Given the description of an element on the screen output the (x, y) to click on. 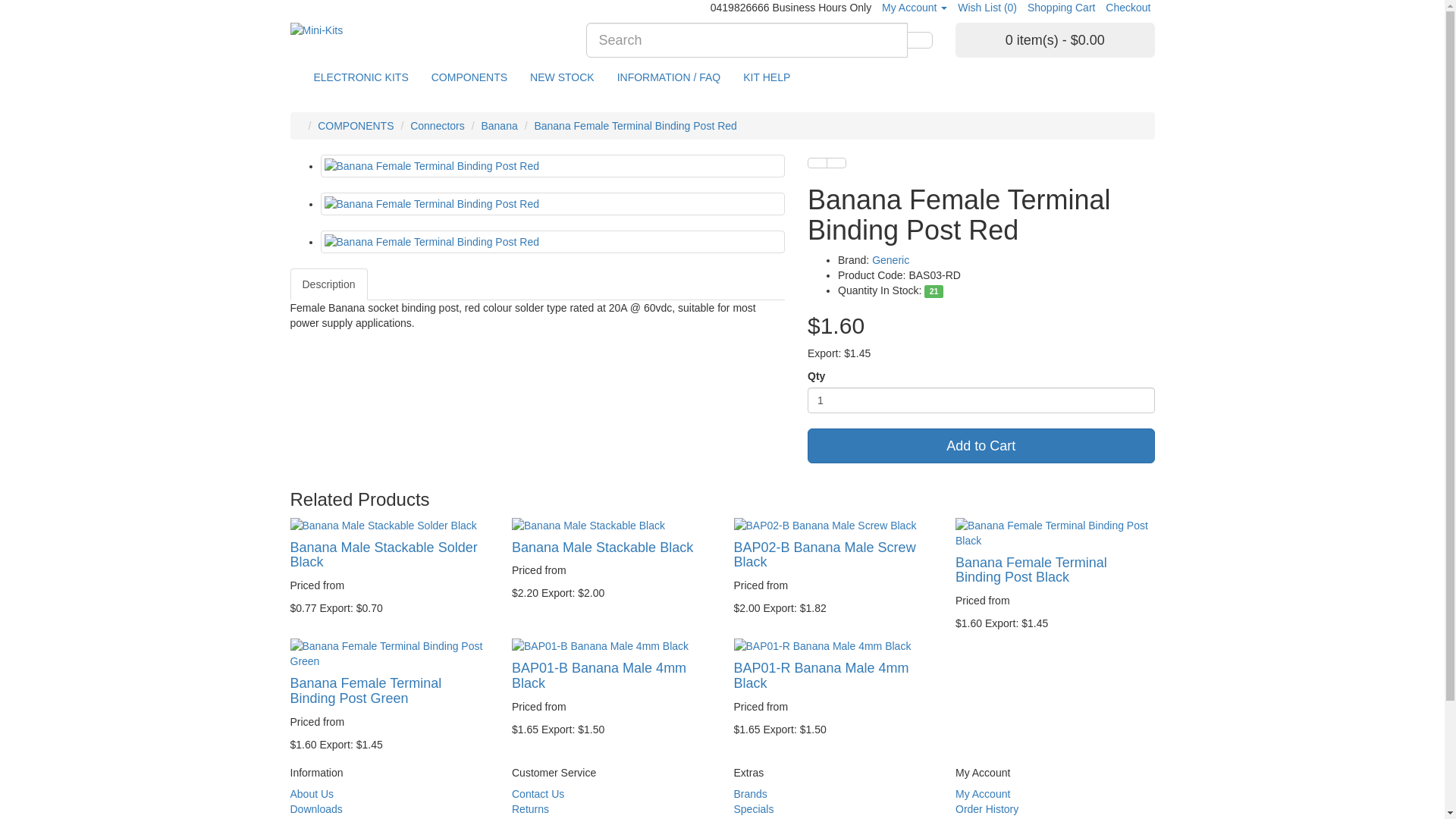
BAP02-B Banana Male Screw Black Element type: text (825, 554)
Banana Female Terminal Binding Post Red Element type: hover (552, 241)
BAP02-B Banana Male Screw Black Element type: hover (833, 525)
COMPONENTS Element type: text (355, 125)
0 item(s) - $0.00 Element type: text (1054, 39)
Wish List (0) Element type: text (986, 7)
Banana Female Terminal Binding Post Black Element type: hover (1054, 532)
BAP01-R Banana Male 4mm Black Element type: text (821, 675)
Banana Female Terminal Binding Post Red Element type: hover (552, 203)
Banana Female Terminal Binding Post Green Element type: hover (389, 653)
KIT HELP Element type: text (766, 77)
Contact Us Element type: text (537, 793)
Banana Female Terminal Binding Post Black Element type: text (1031, 570)
ELECTRONIC KITS Element type: text (360, 77)
My Account Element type: text (982, 793)
Shopping Cart Element type: text (1061, 7)
About Us Element type: text (311, 793)
Banana Female Terminal Binding Post Red Element type: text (634, 125)
BAP01-R Banana Male 4mm Black Element type: hover (833, 645)
Generic Element type: text (890, 260)
BAP01-B Banana Male 4mm Black Element type: hover (611, 645)
Connectors Element type: text (437, 125)
Mini-Kits Element type: hover (425, 29)
Banana Female Terminal Binding Post Red Element type: hover (552, 203)
Returns Element type: text (530, 809)
Banana Female Terminal Binding Post Green Element type: text (365, 690)
Description Element type: text (328, 284)
Order History Element type: text (986, 809)
Banana Male Stackable Black Element type: hover (611, 525)
NEW STOCK Element type: text (561, 77)
Banana Female Terminal Binding Post Red Element type: hover (552, 165)
Banana Male Stackable Solder Black Element type: text (382, 554)
Add to Wish List Element type: hover (817, 162)
Add to Cart Element type: text (980, 445)
INFORMATION / FAQ Element type: text (668, 77)
Banana Male Stackable Solder Black Element type: hover (389, 525)
Brands Element type: text (750, 793)
Checkout Element type: text (1127, 7)
Downloads Element type: text (315, 809)
BAP01-B Banana Male 4mm Black Element type: text (598, 675)
My Account Element type: text (914, 7)
Banana Element type: text (498, 125)
Banana Female Terminal Binding Post Red Element type: hover (552, 241)
Banana Male Stackable Black Element type: text (602, 547)
COMPONENTS Element type: text (469, 77)
Banana Female Terminal Binding Post Red Element type: hover (552, 165)
Specials Element type: text (754, 809)
Compare this Product Element type: hover (836, 162)
